Given the description of an element on the screen output the (x, y) to click on. 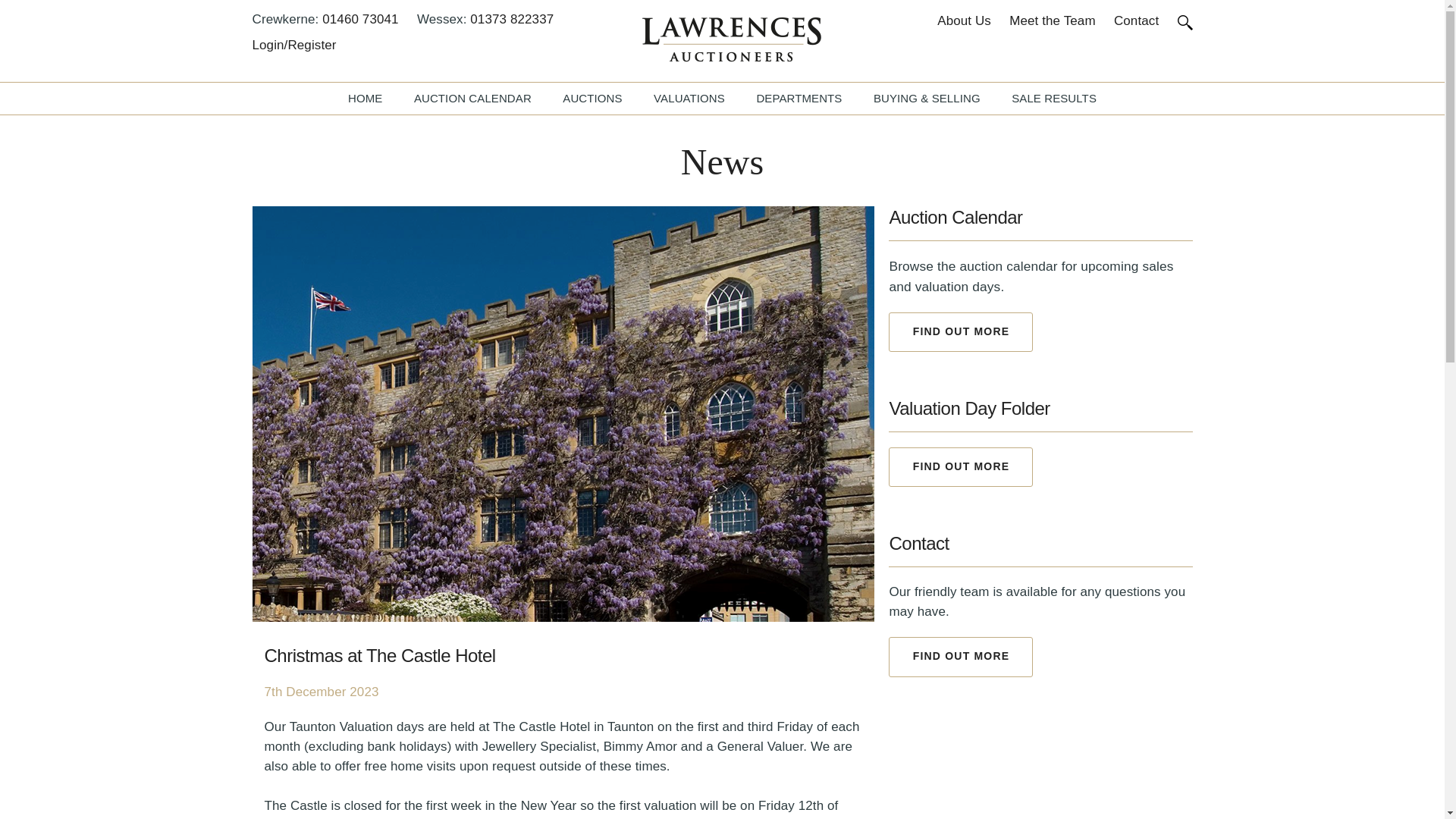
01460 73041 (359, 20)
FIND OUT MORE (960, 656)
DEPARTMENTS (798, 98)
Meet the Team (1051, 22)
FIND OUT MORE (960, 466)
HOME (364, 98)
About Us (964, 22)
SALE RESULTS (1053, 98)
Contact (1135, 22)
FIND OUT MORE (960, 332)
